Given the description of an element on the screen output the (x, y) to click on. 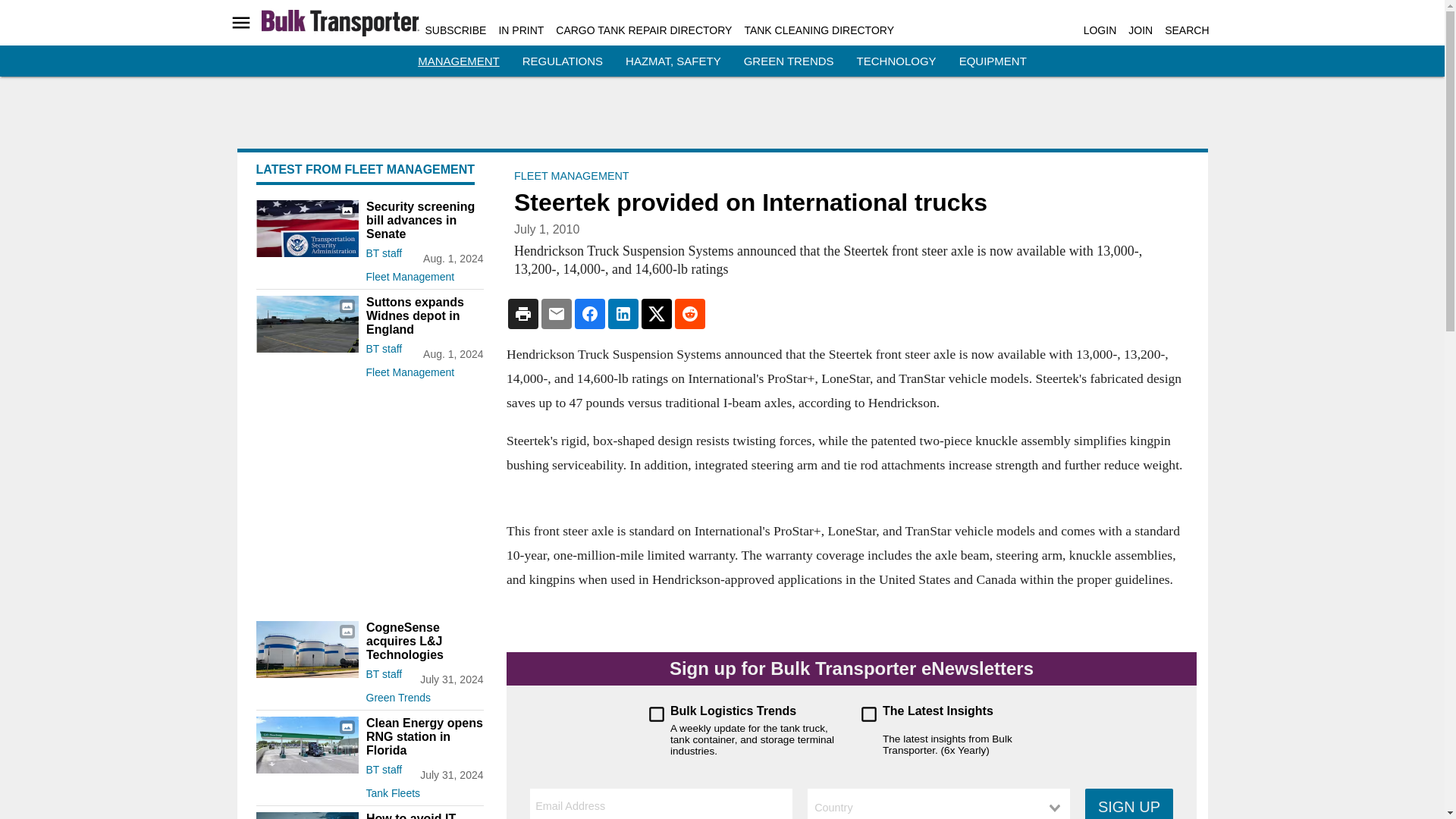
EQUIPMENT (992, 60)
TECHNOLOGY (896, 60)
REGULATIONS (562, 60)
GREEN TRENDS (789, 60)
CARGO TANK REPAIR DIRECTORY (644, 30)
SEARCH (1186, 30)
SUBSCRIBE (455, 30)
JOIN (1140, 30)
LOGIN (1099, 30)
TANK CLEANING DIRECTORY (818, 30)
